Given the description of an element on the screen output the (x, y) to click on. 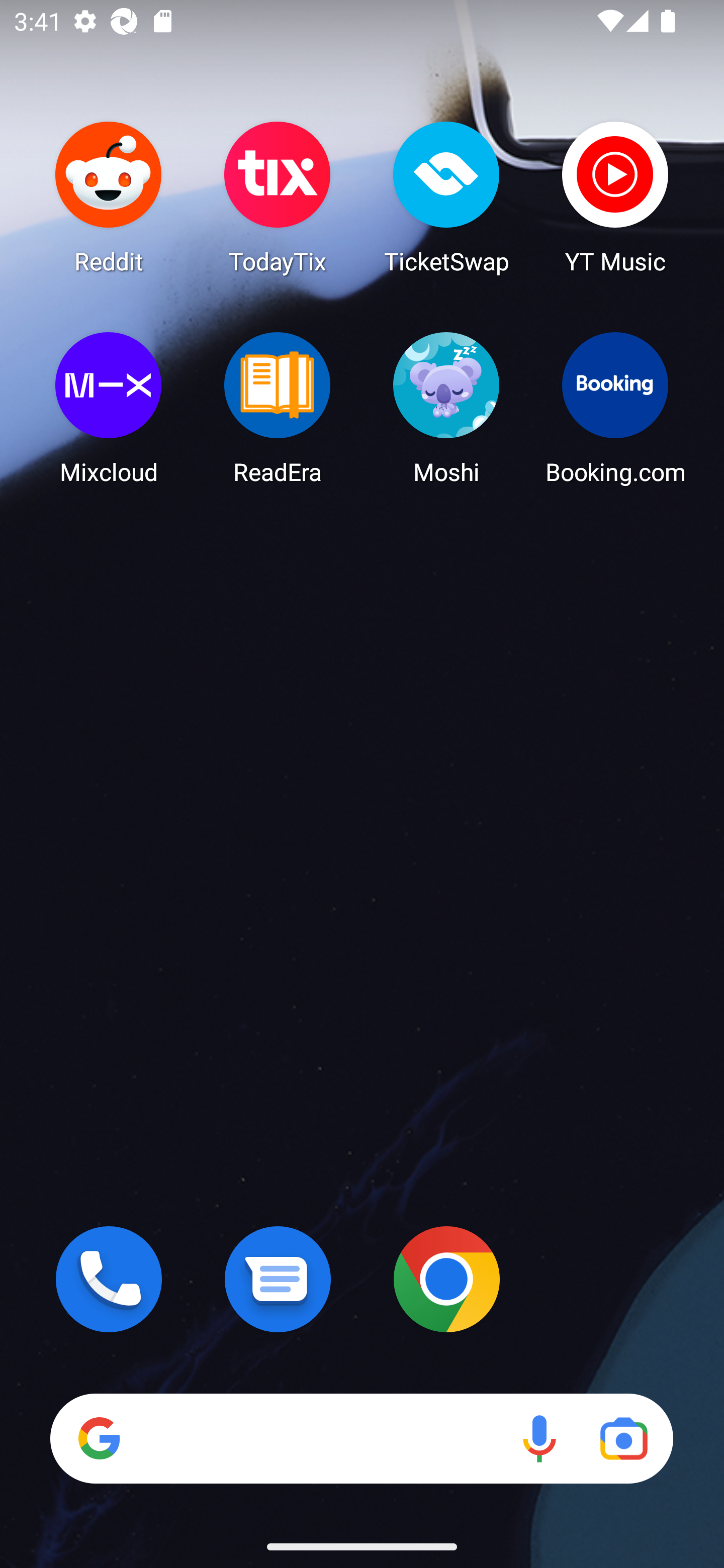
Reddit (108, 196)
TodayTix (277, 196)
TicketSwap (445, 196)
YT Music (615, 196)
Mixcloud (108, 407)
ReadEra (277, 407)
Moshi (445, 407)
Booking.com (615, 407)
Phone (108, 1279)
Messages (277, 1279)
Chrome (446, 1279)
Search Voice search Google Lens (361, 1438)
Voice search (539, 1438)
Google Lens (623, 1438)
